Given the description of an element on the screen output the (x, y) to click on. 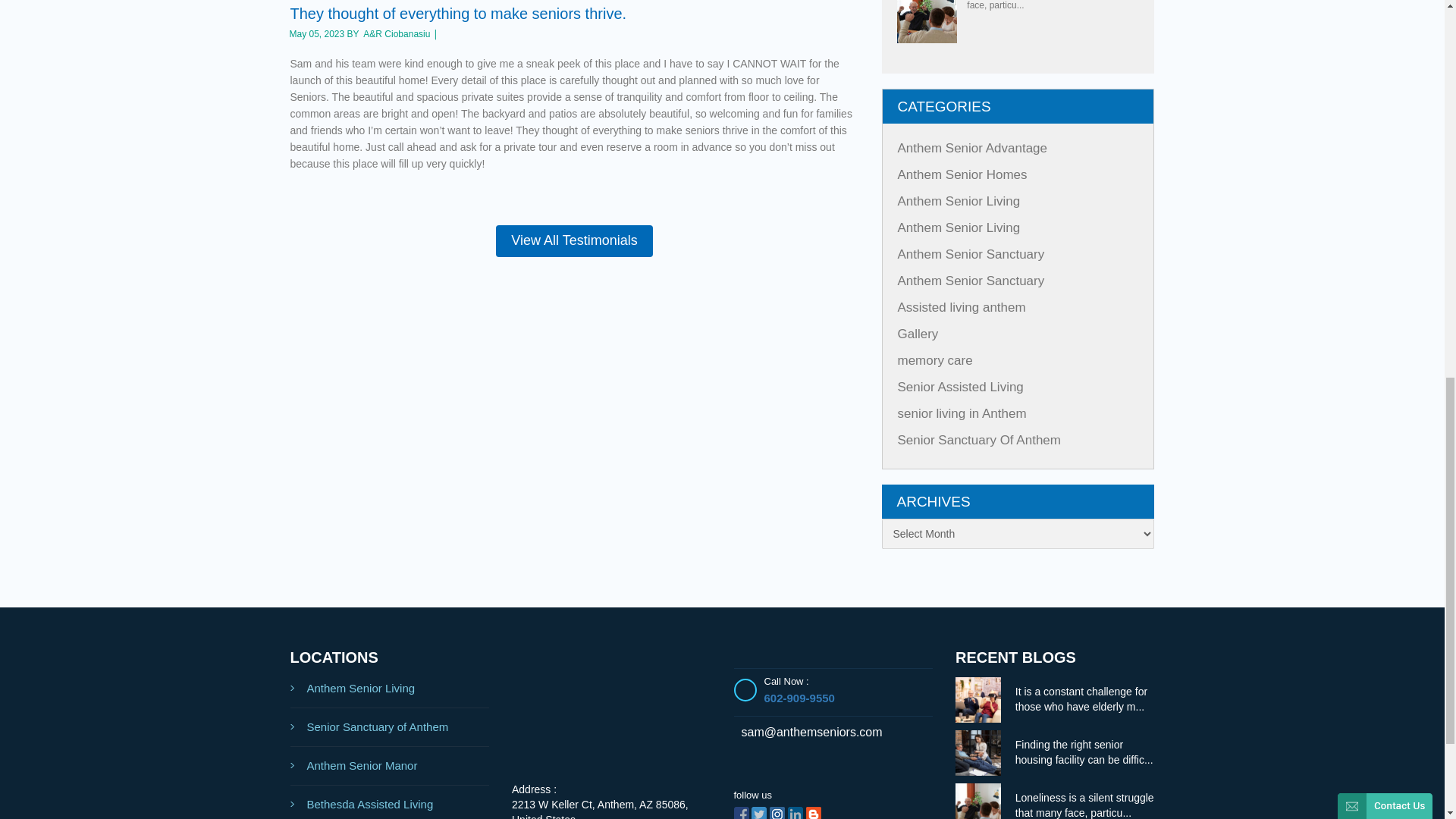
Bethesda Assisted Living (389, 802)
Anthem Senior Living (389, 688)
View All Testimonials (574, 241)
Anthem Senior Sanctuary (971, 280)
Anthem Senior Living (959, 201)
Anthem Senior Living (959, 227)
Gallery (918, 333)
memory care (935, 359)
Anthem Senior Manor (389, 765)
Anthem Senior Homes (962, 174)
Anthem Senior Advantage (973, 147)
Anthem Senior Sanctuary (971, 254)
Senior Sanctuary Of Anthem (979, 440)
Senior Sanctuary of Anthem (389, 727)
Senior Assisted Living (960, 386)
